Given the description of an element on the screen output the (x, y) to click on. 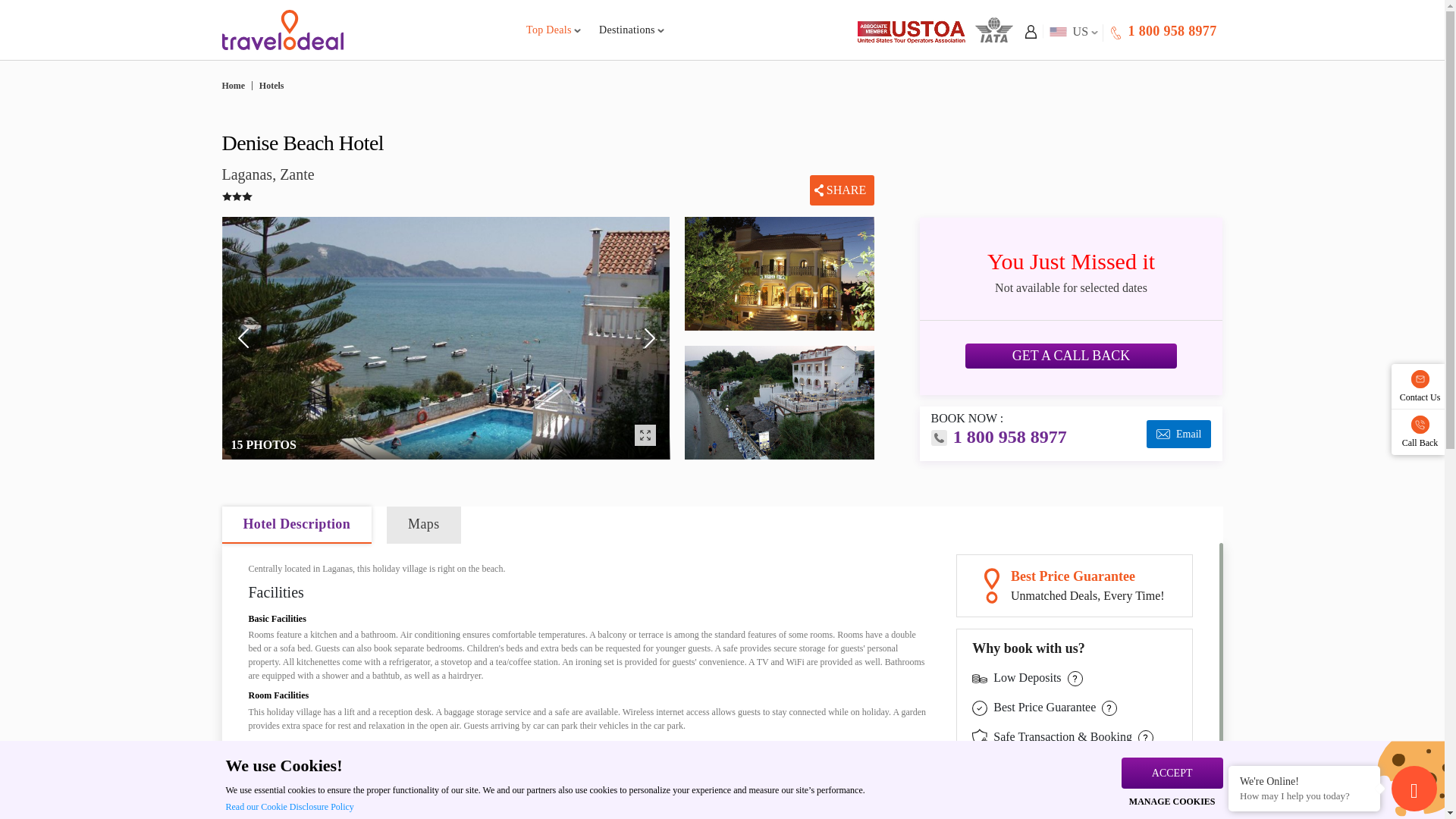
Top Deals (552, 29)
How may I help you today? (1304, 796)
We're Online! (1304, 780)
GET A CALL BACK (1174, 30)
Destinations (630, 29)
US (1070, 31)
1 800 958 8977 (1161, 31)
